Given the description of an element on the screen output the (x, y) to click on. 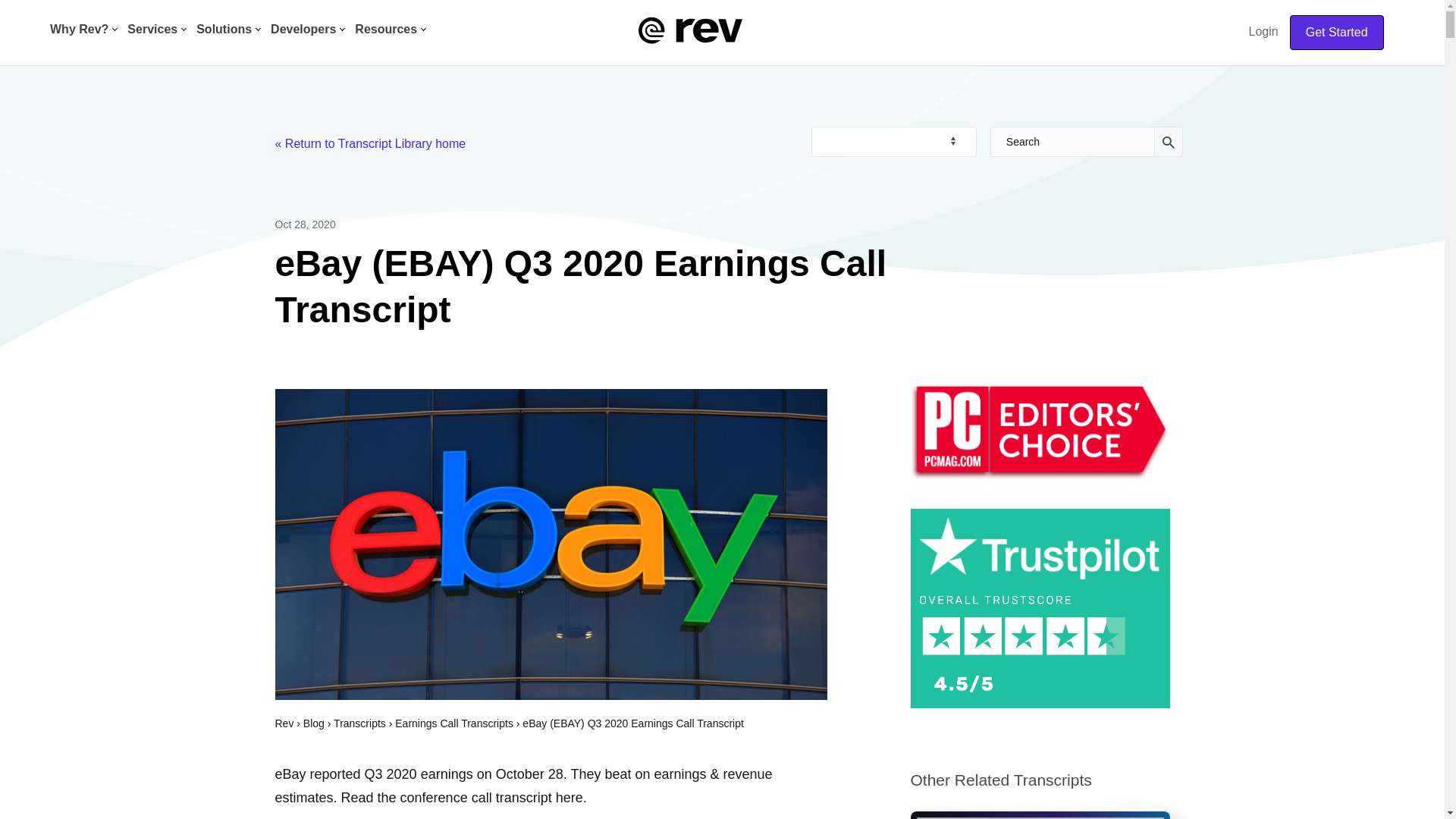
Login (1263, 31)
Resources (387, 31)
Search (1072, 141)
Solutions (225, 31)
Get Started (1337, 32)
Type and press Enter to search. (1087, 141)
Home (690, 29)
Why Rev? (80, 31)
Developers (304, 31)
